Given the description of an element on the screen output the (x, y) to click on. 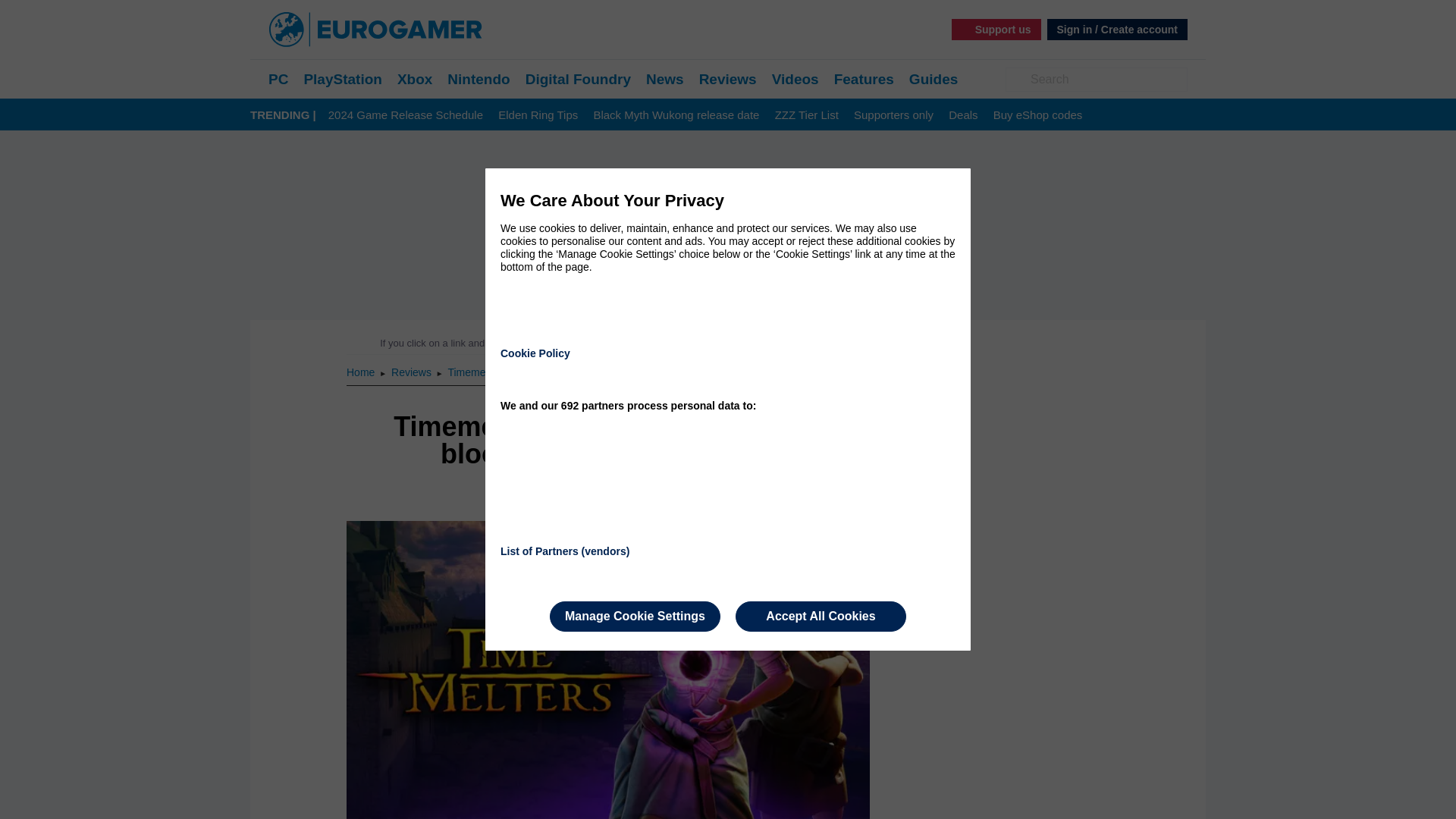
2024 Game Release Schedule (406, 114)
Home (361, 372)
Reviews (727, 78)
Reviews (412, 372)
Timemelters (475, 372)
Timemelters (475, 372)
Elden Ring Tips (537, 114)
Supporters only (893, 114)
Buy eShop codes (1037, 114)
PlayStation (341, 78)
